Given the description of an element on the screen output the (x, y) to click on. 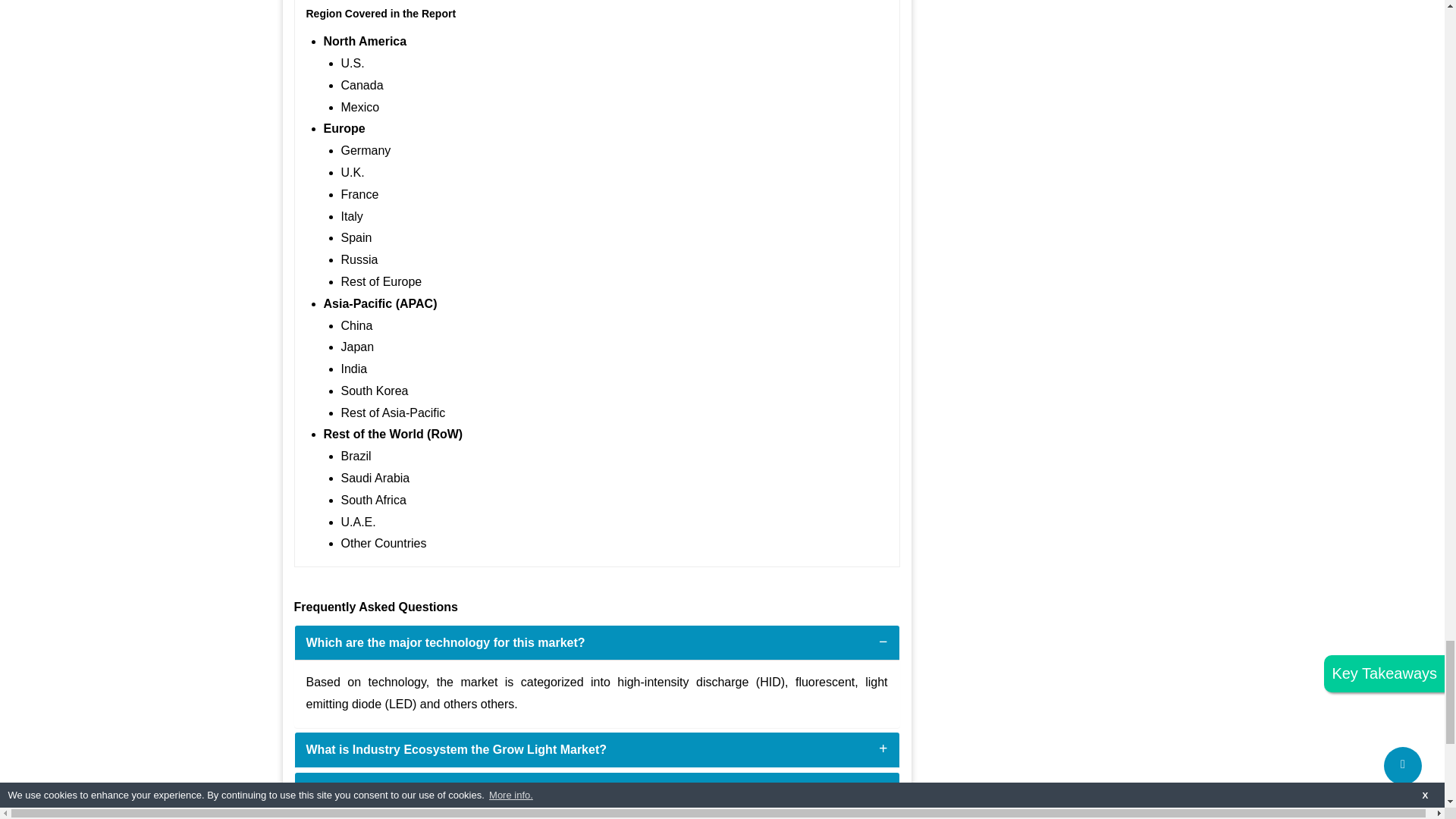
Which are the major technology for this market? (445, 642)
What is Industry Ecosystem the Grow Light Market? (456, 748)
Which are the major growth driver for this market? (451, 789)
